Given the description of an element on the screen output the (x, y) to click on. 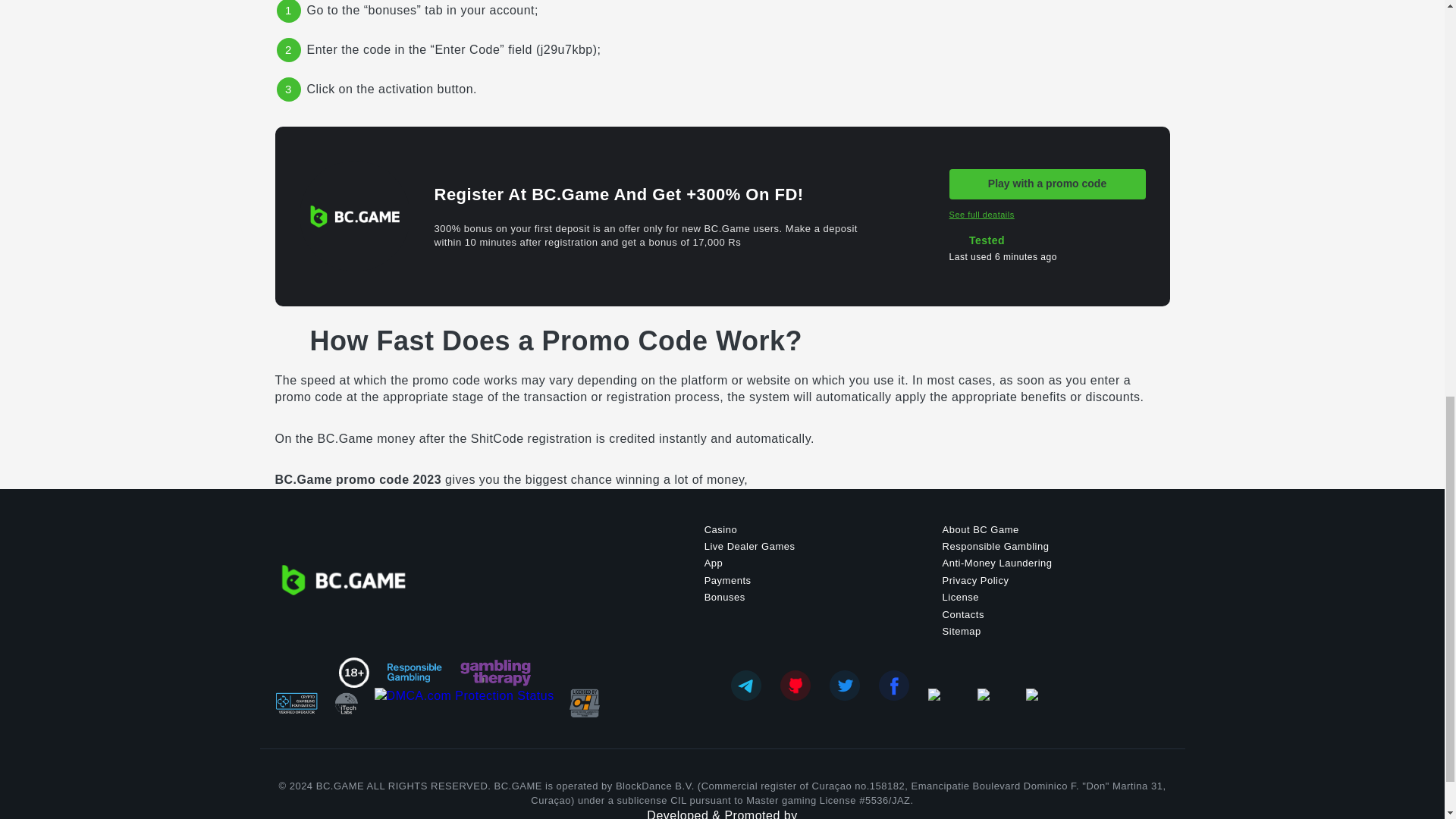
Casino (720, 529)
Play with a promo code (1047, 183)
Contacts (963, 614)
DMCA.com Protection Status (464, 702)
Sitemap (961, 631)
Privacy Policy (975, 580)
Payments (727, 580)
App (713, 562)
Play with a promo code (1047, 183)
License (960, 596)
